Given the description of an element on the screen output the (x, y) to click on. 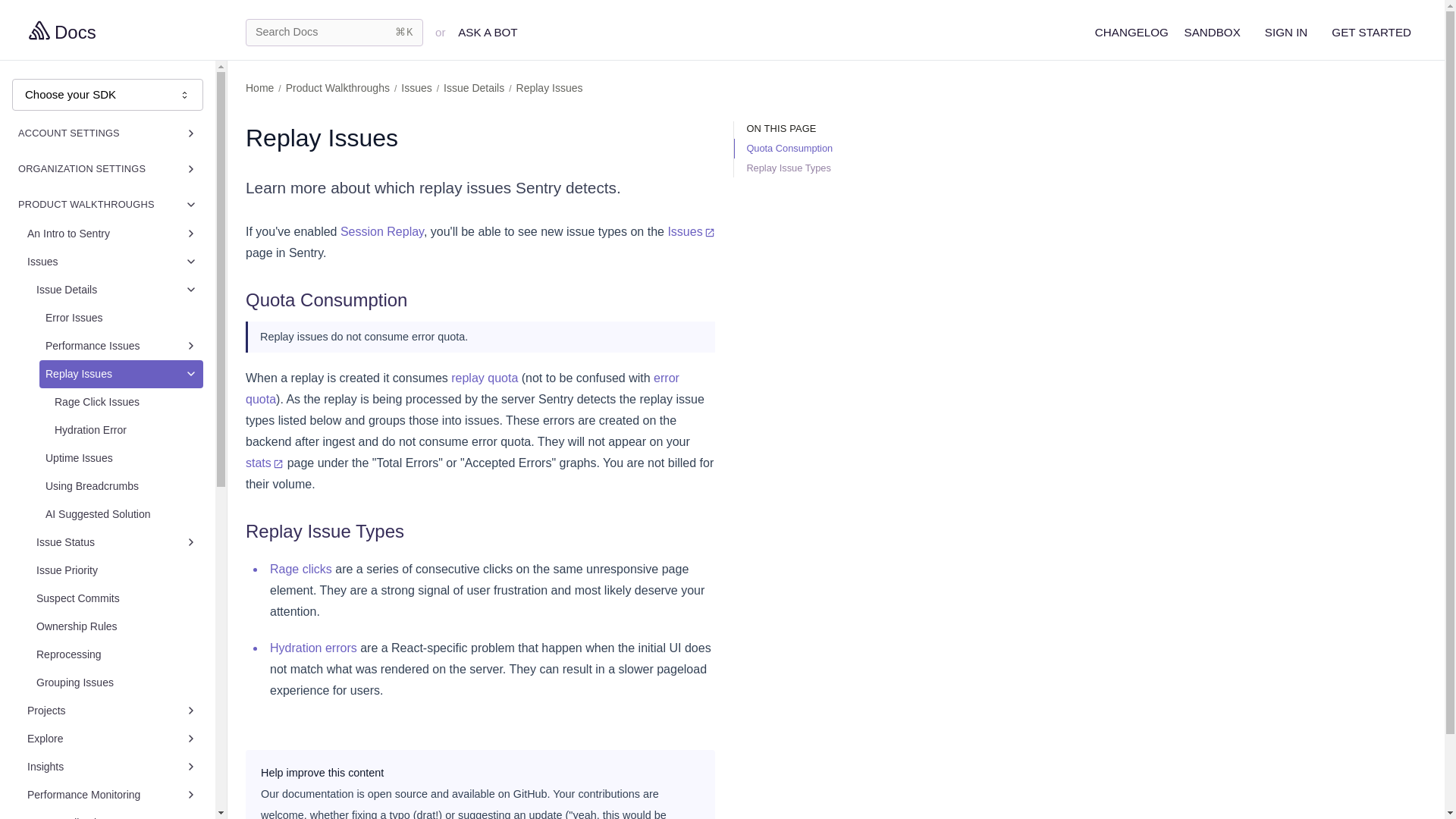
ACCOUNT SETTINGS (107, 132)
Insights (112, 766)
Grouping Issues (116, 682)
Projects (112, 710)
ASK A BOT (487, 32)
User Feedback (112, 814)
Explore (112, 738)
SIGN IN (1286, 32)
An Intro to Sentry (112, 234)
PRODUCT WALKTHROUGHS (107, 203)
